Given the description of an element on the screen output the (x, y) to click on. 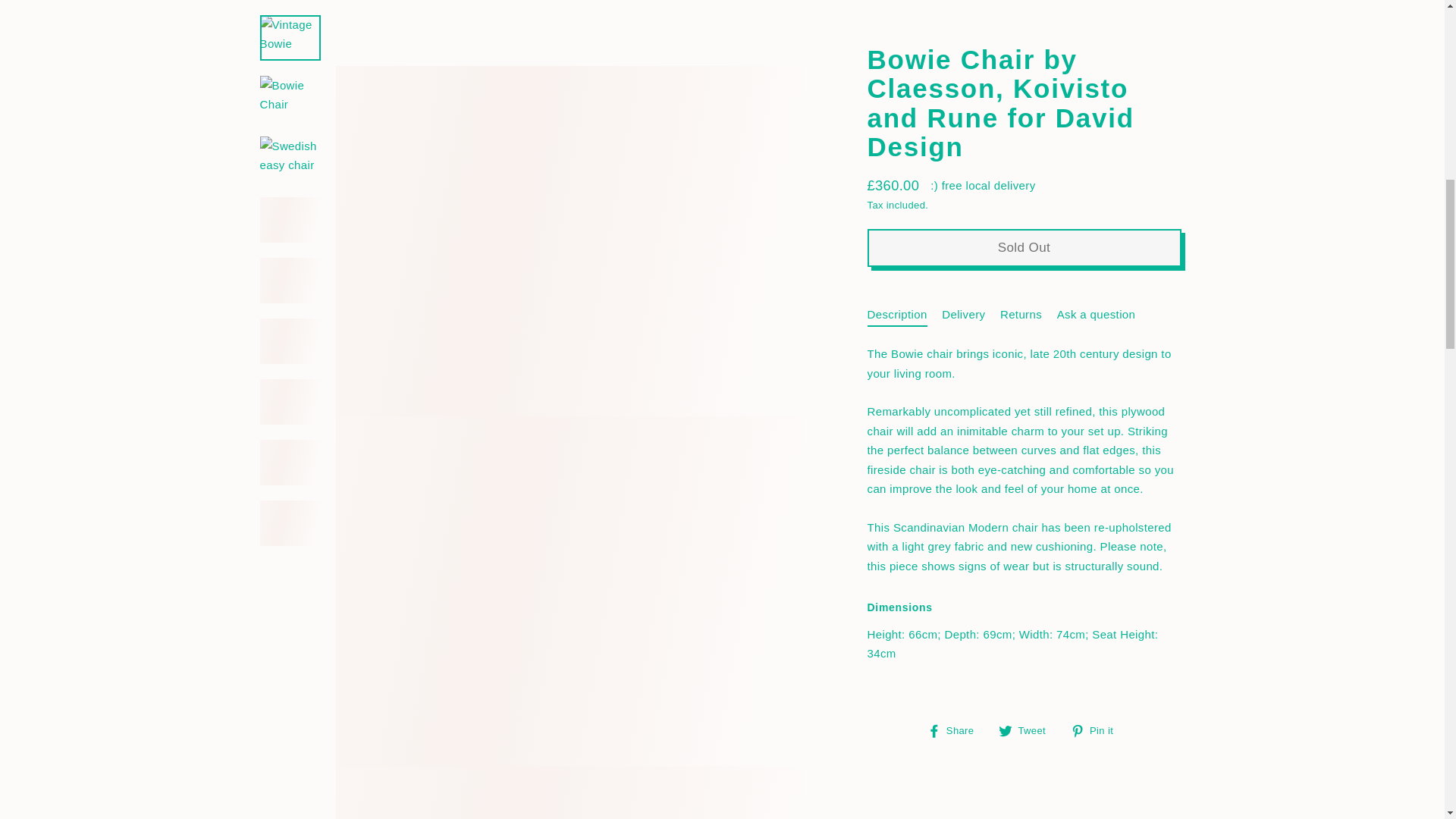
Pin on Pinterest (1097, 96)
Tweet on Twitter (1027, 96)
Share on Facebook (956, 96)
